Given the description of an element on the screen output the (x, y) to click on. 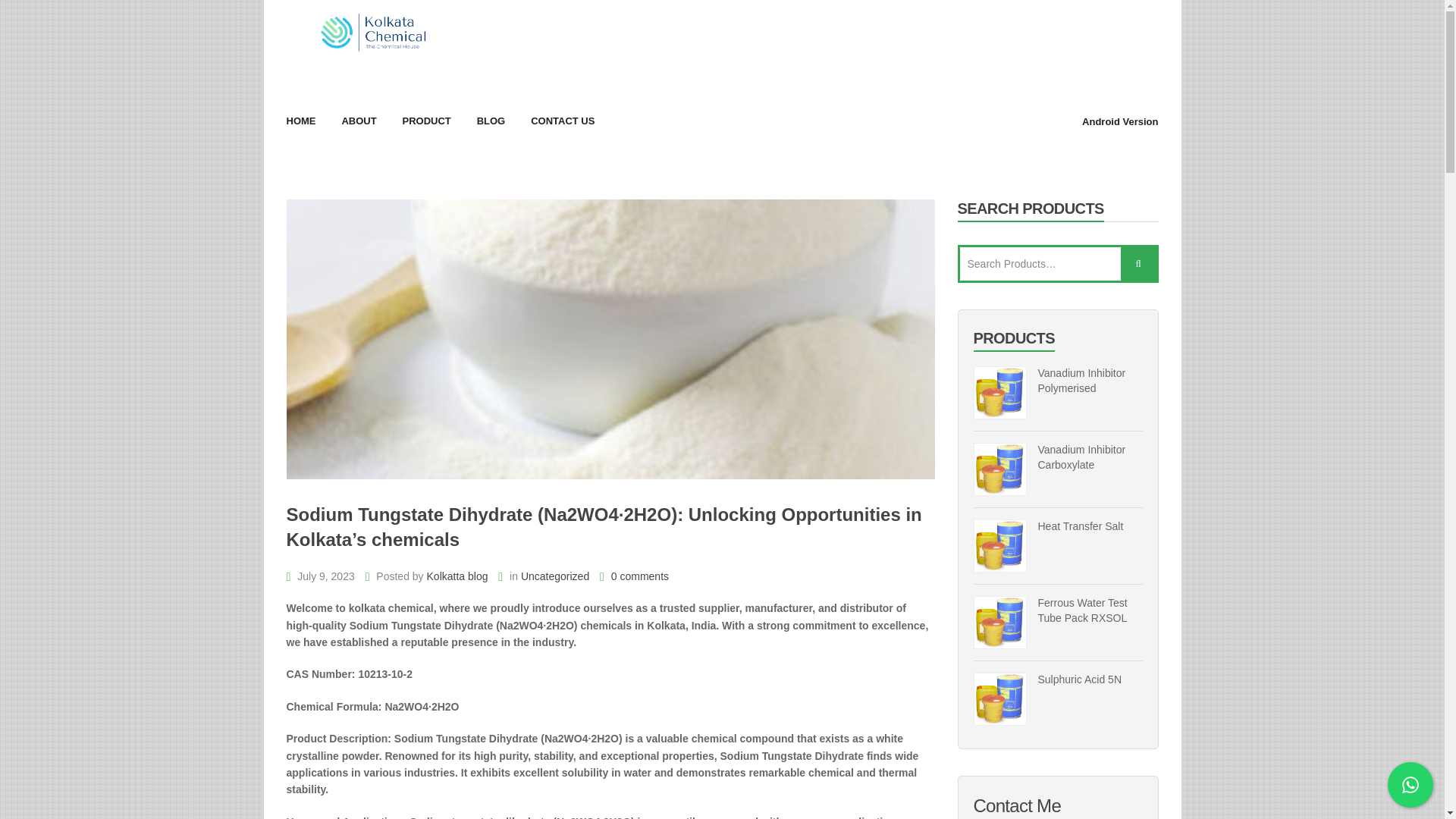
HOME (300, 120)
Uncategorized (555, 576)
Search for: (1056, 263)
CONTACT US (562, 120)
0 comments (633, 576)
Vanadium Inhibitor Polymerised (1058, 380)
ABOUT (357, 120)
BLOG (491, 120)
PRODUCT (425, 120)
Android Version (1119, 121)
Kolkatta blog (456, 576)
